Given the description of an element on the screen output the (x, y) to click on. 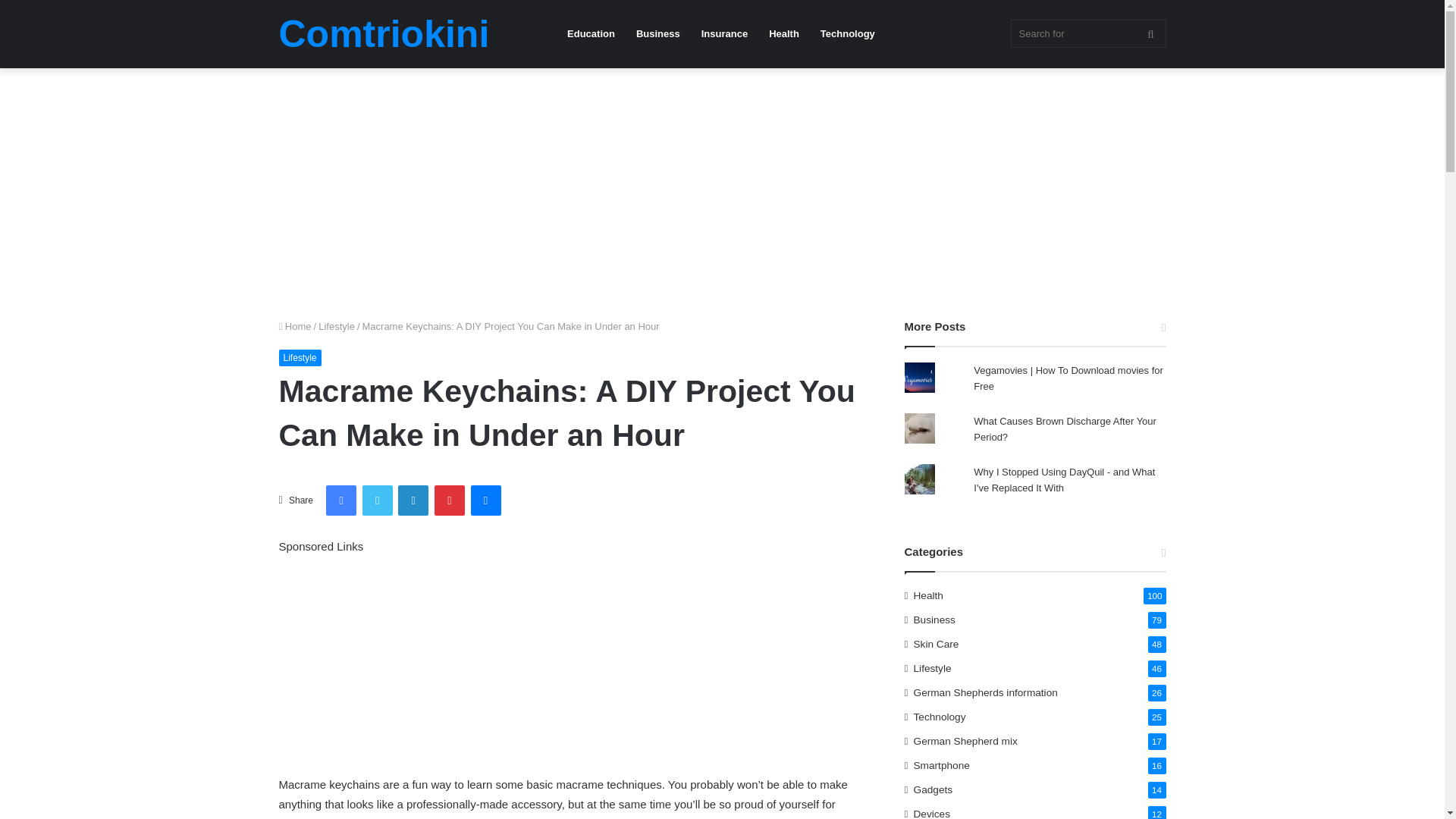
Messenger (485, 500)
Pinterest (448, 500)
LinkedIn (412, 500)
Technology (847, 33)
Search for (1088, 33)
Lifestyle (336, 326)
Comtriokini (384, 34)
Business (658, 33)
Comtriokini (384, 34)
